Given the description of an element on the screen output the (x, y) to click on. 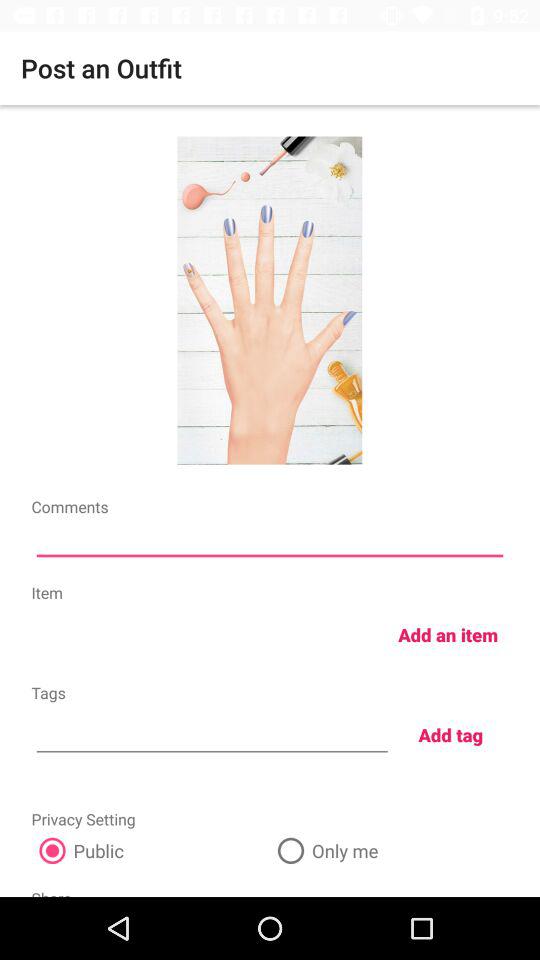
tap the item at the center (269, 541)
